Given the description of an element on the screen output the (x, y) to click on. 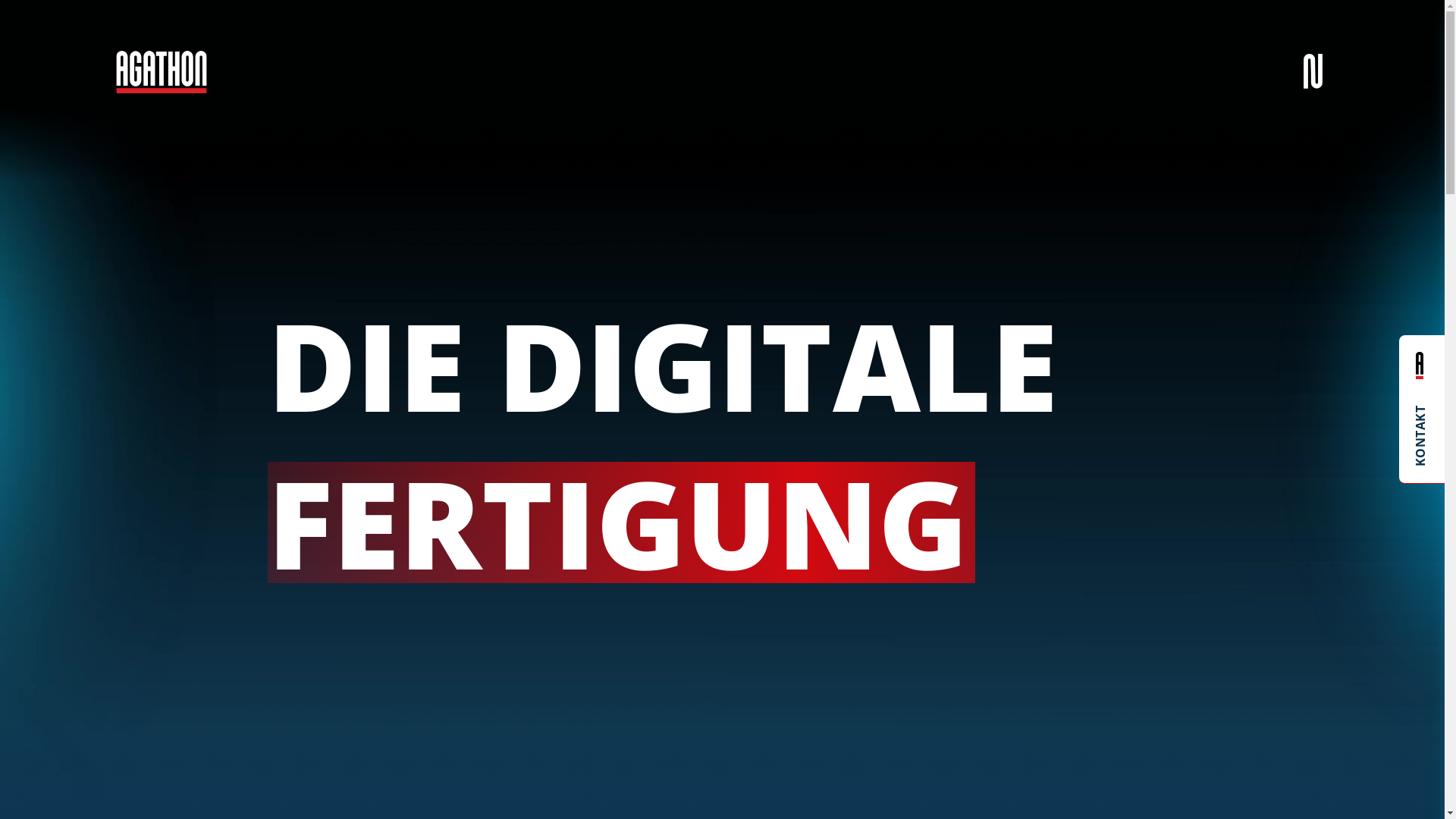
KONTAKT Element type: text (1421, 409)
